Given the description of an element on the screen output the (x, y) to click on. 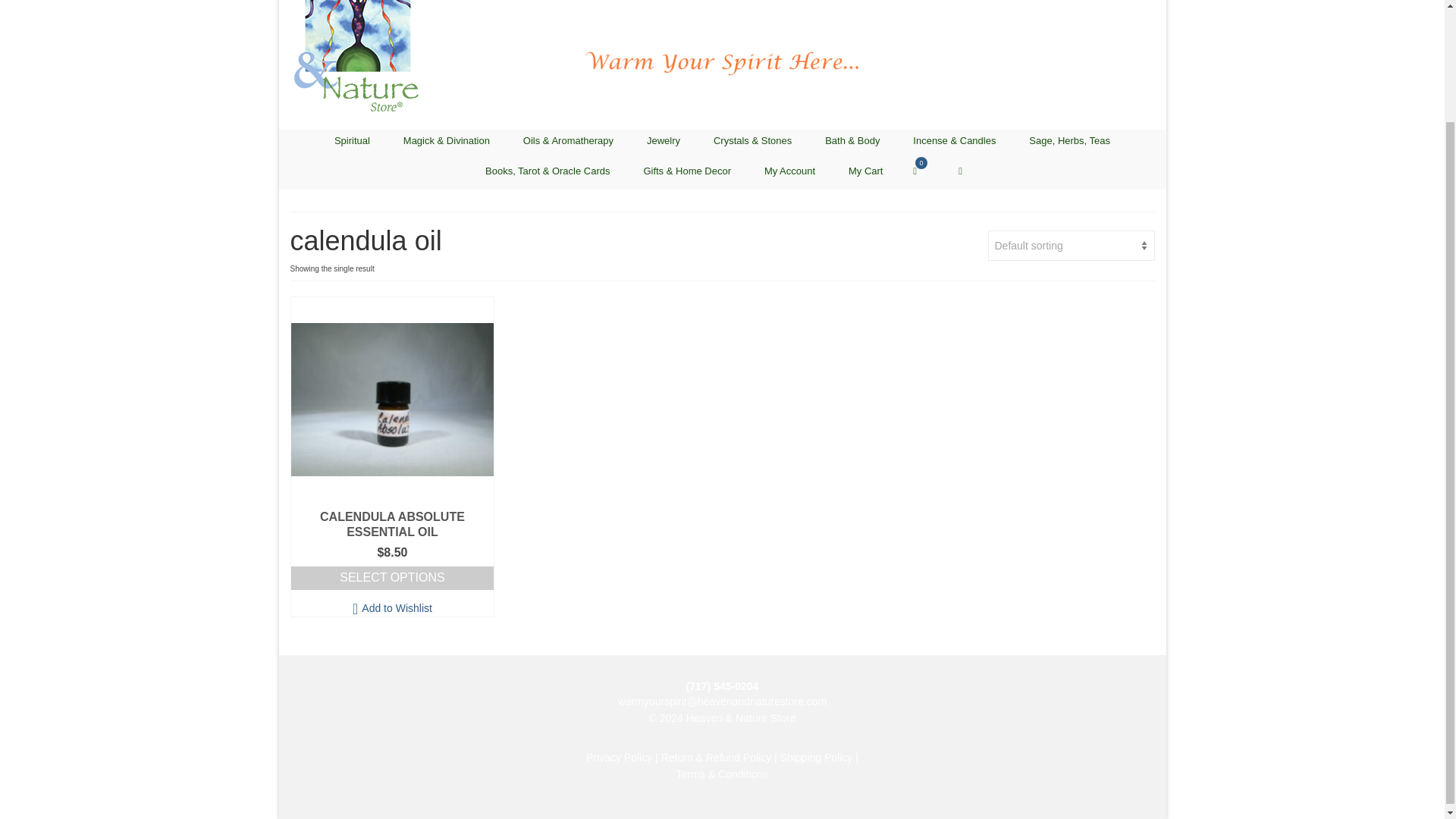
Spiritual (351, 140)
Search (960, 170)
Your Cart (922, 170)
